Given the description of an element on the screen output the (x, y) to click on. 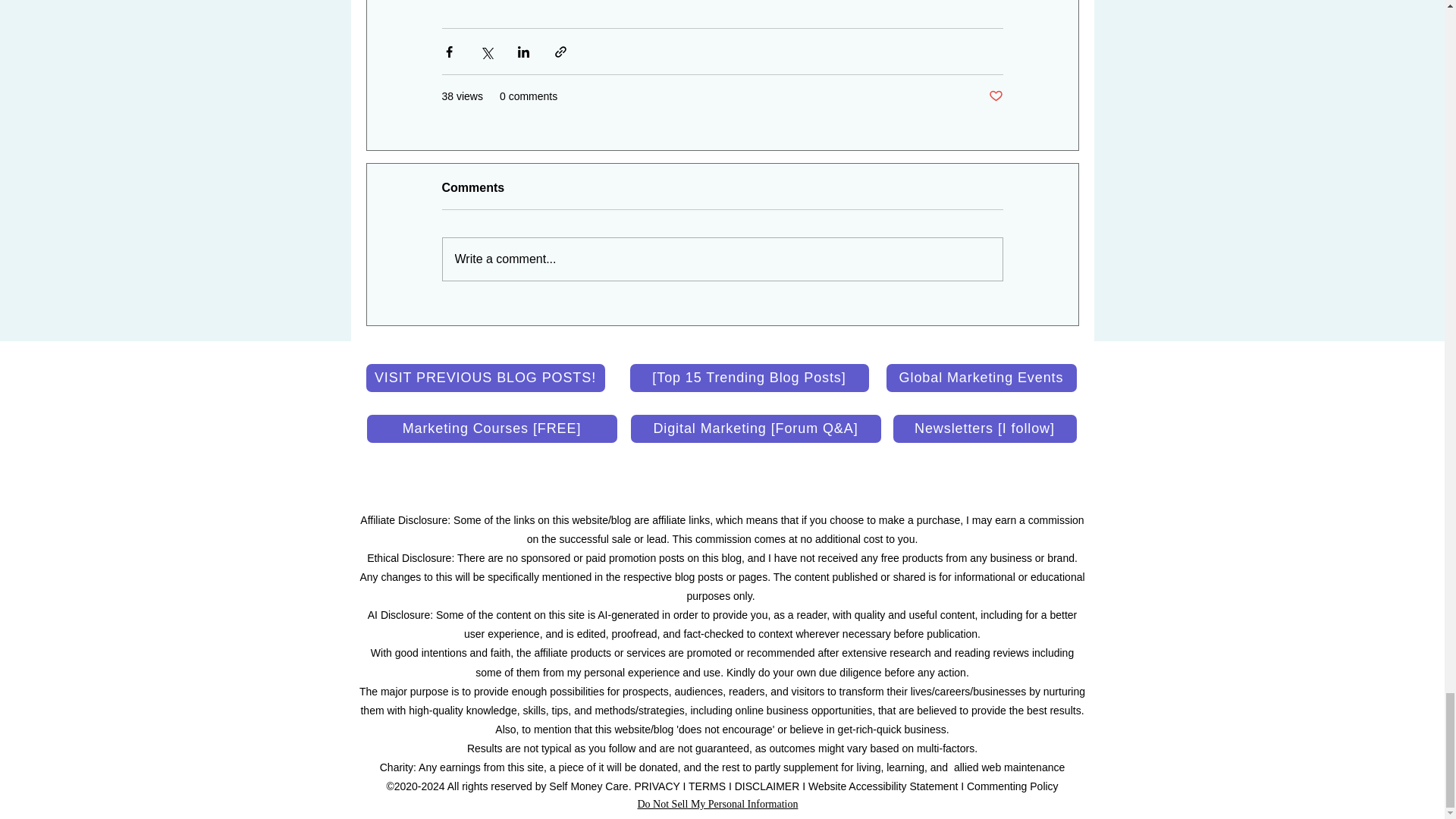
VISIT PREVIOUS BLOG POSTS! (484, 377)
Write a comment... (722, 259)
Post not marked as liked (995, 96)
